Given the description of an element on the screen output the (x, y) to click on. 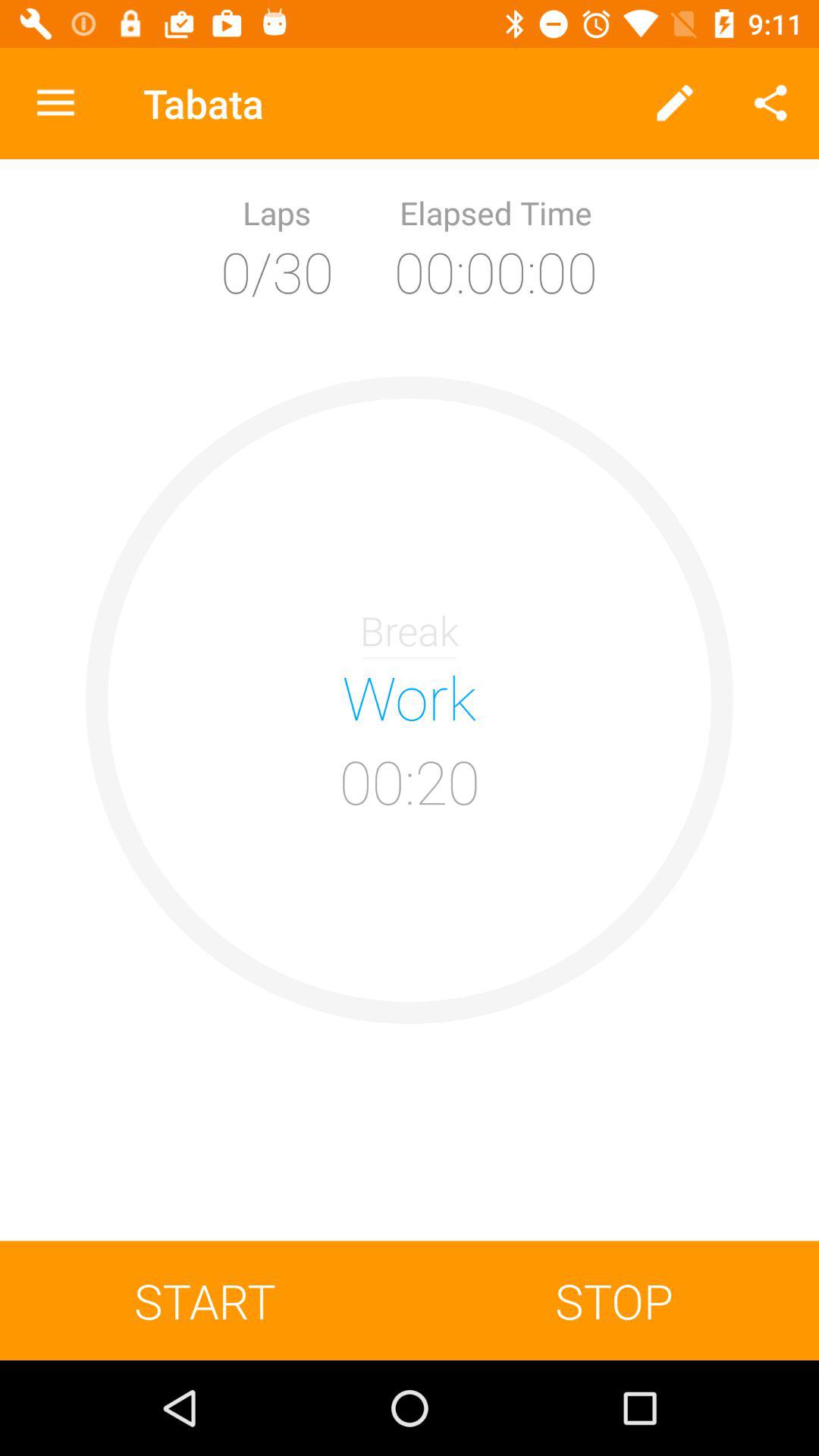
open the icon at the bottom right corner (614, 1300)
